Given the description of an element on the screen output the (x, y) to click on. 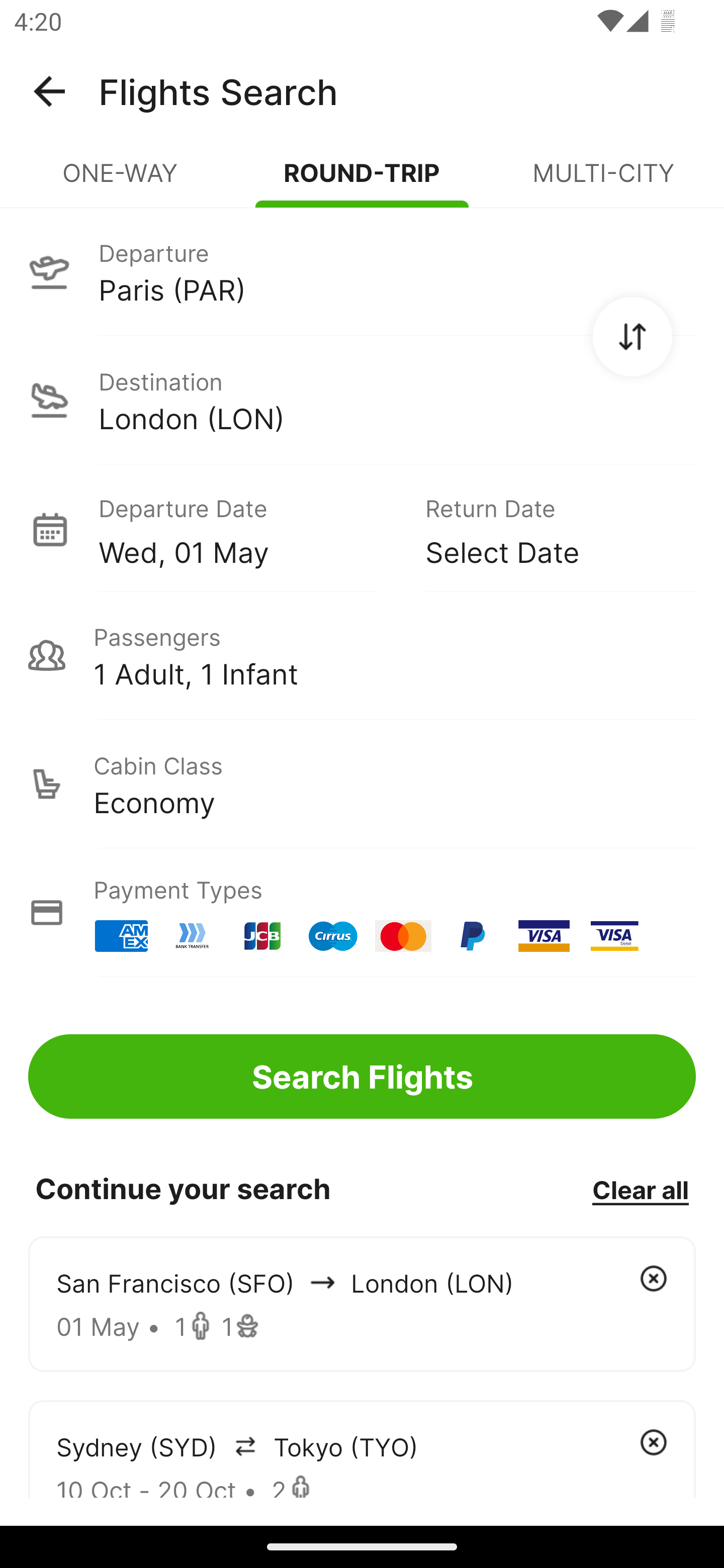
ONE-WAY (120, 180)
ROUND-TRIP (361, 180)
MULTI-CITY (603, 180)
Departure Paris (PAR) (362, 270)
Destination London (LON) (362, 400)
Departure Date Wed, 01 May (247, 528)
Return Date Select Date (546, 528)
Passengers 1 Adult, 1 Infant (362, 655)
Cabin Class Economy (362, 783)
Payment Types (362, 912)
Search Flights (361, 1075)
Clear all (640, 1189)
